Given the description of an element on the screen output the (x, y) to click on. 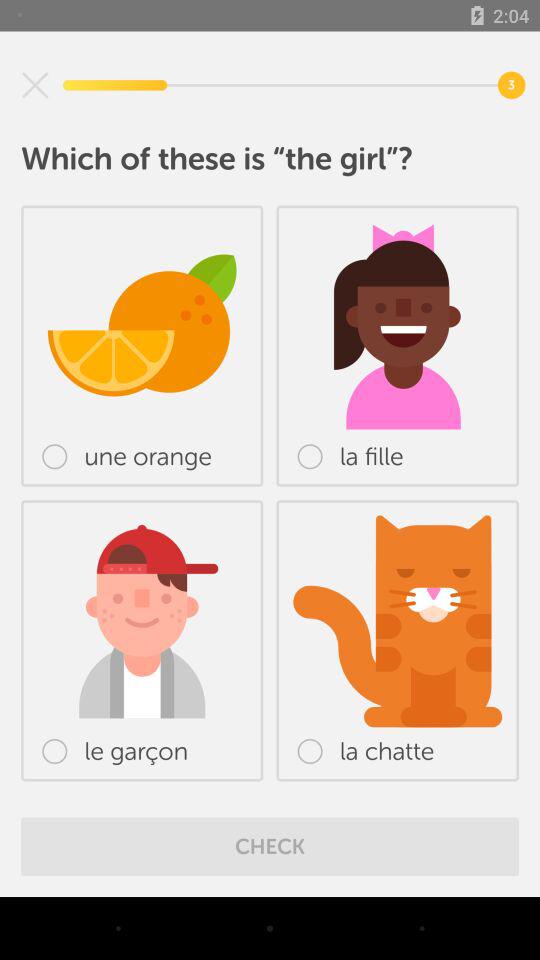
press icon at the top left corner (35, 85)
